Given the description of an element on the screen output the (x, y) to click on. 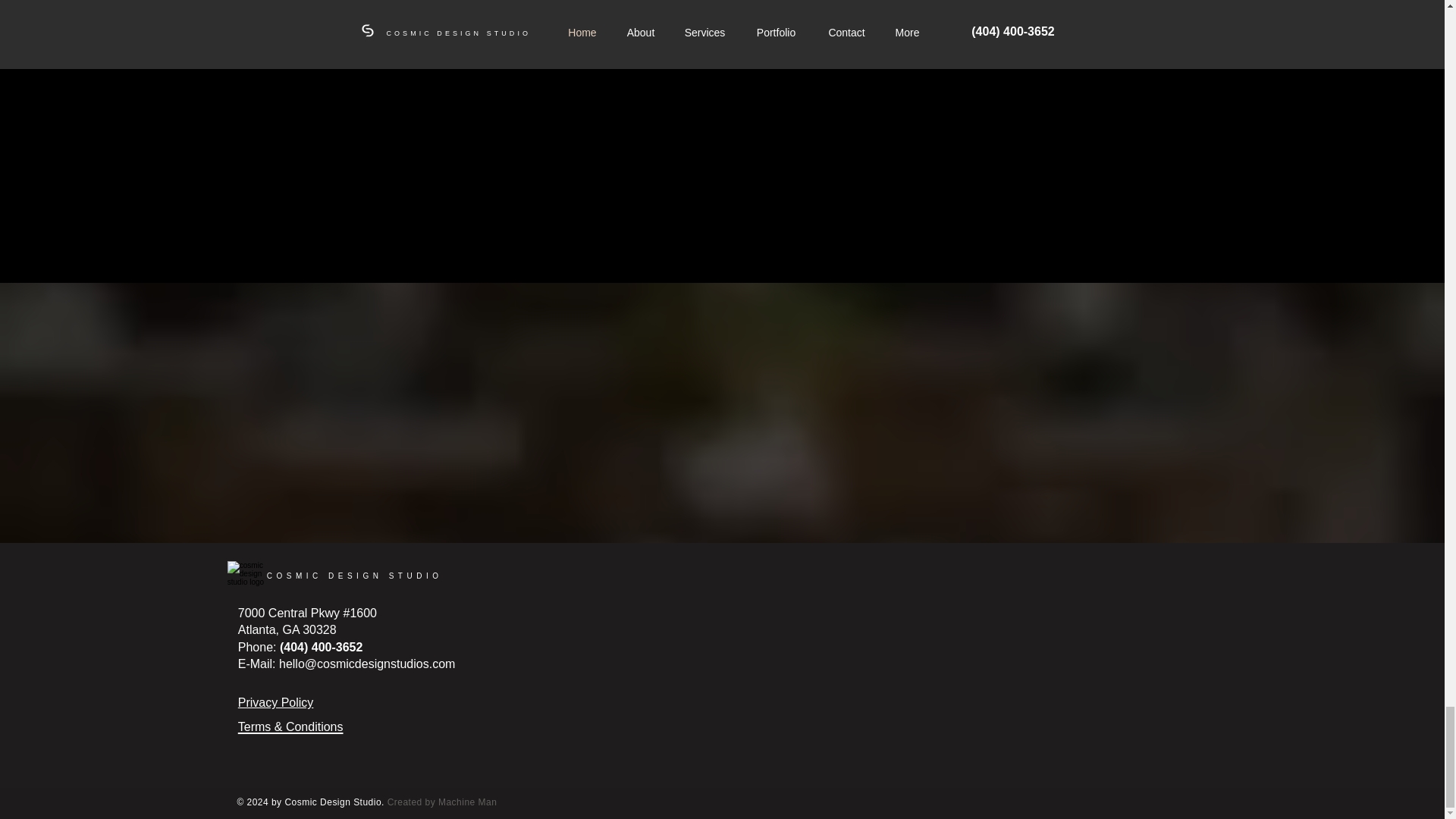
Privacy Policy (276, 702)
COSMIC DESIGN STUDIO (354, 575)
